Given the description of an element on the screen output the (x, y) to click on. 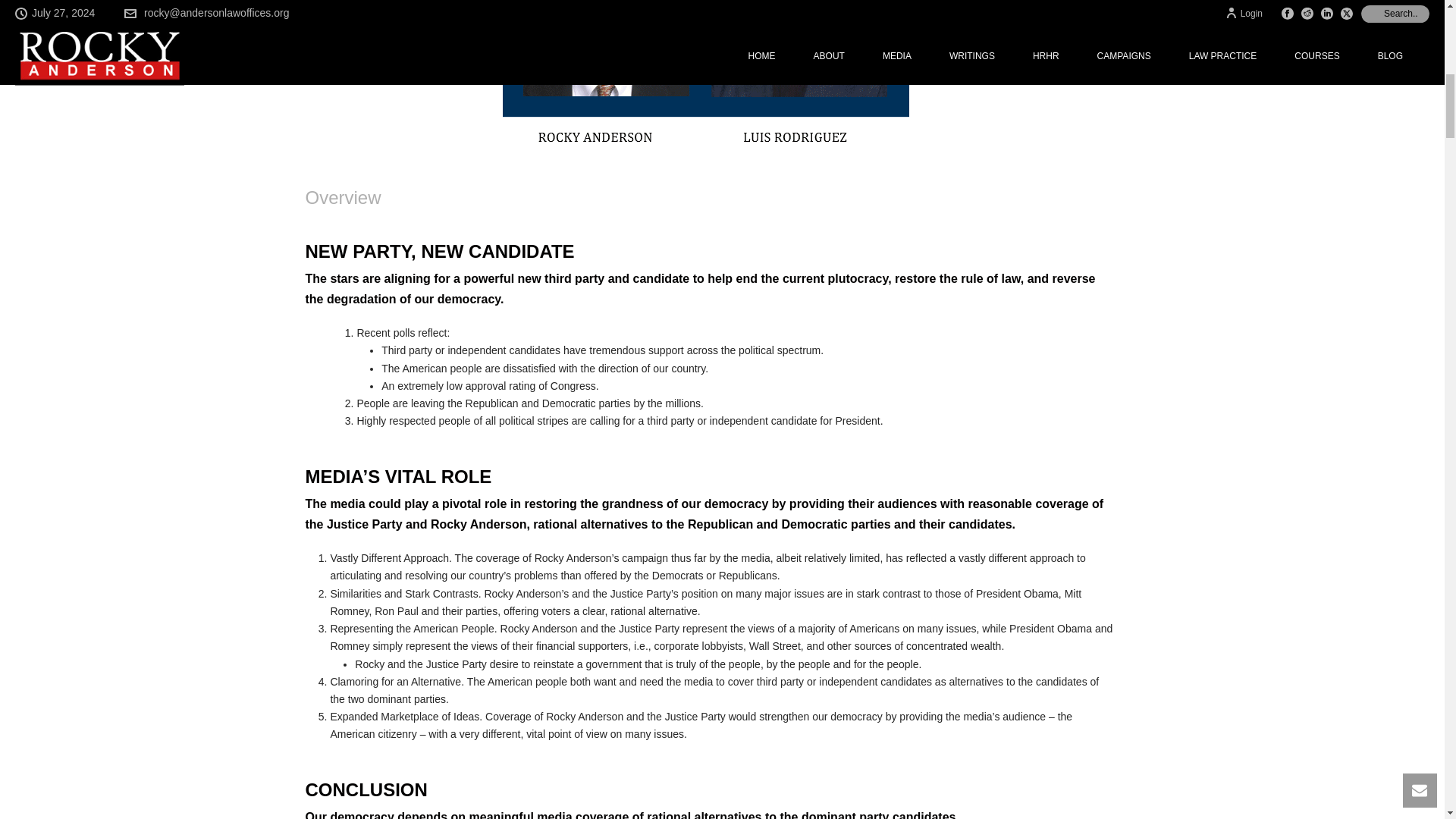
voterocky2 (710, 74)
